Given the description of an element on the screen output the (x, y) to click on. 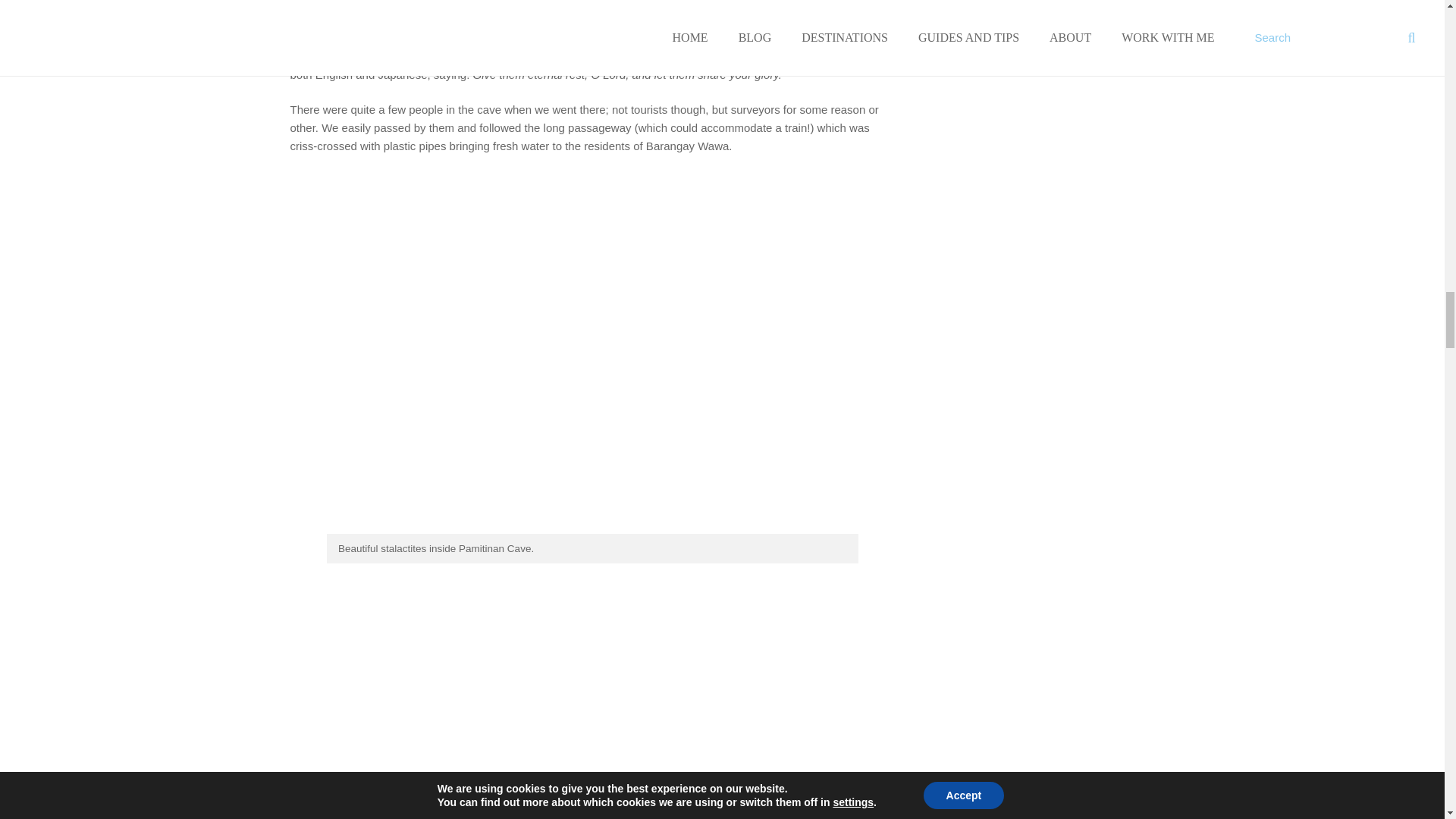
rock-formation-pamitinan by Aleah Phils, on Flickr (588, 529)
pool-cave (588, 702)
